Given the description of an element on the screen output the (x, y) to click on. 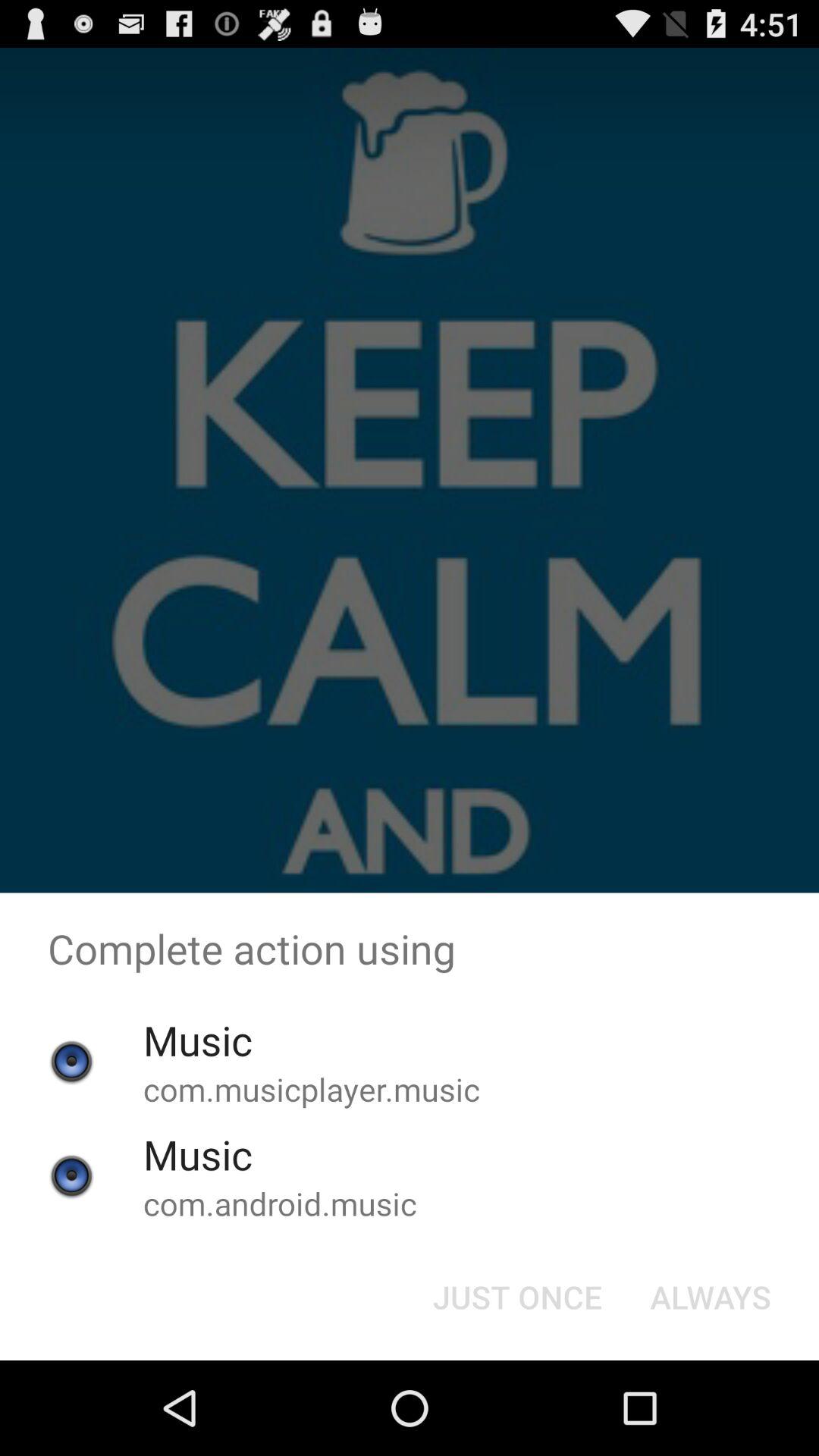
turn on the just once item (517, 1296)
